Given the description of an element on the screen output the (x, y) to click on. 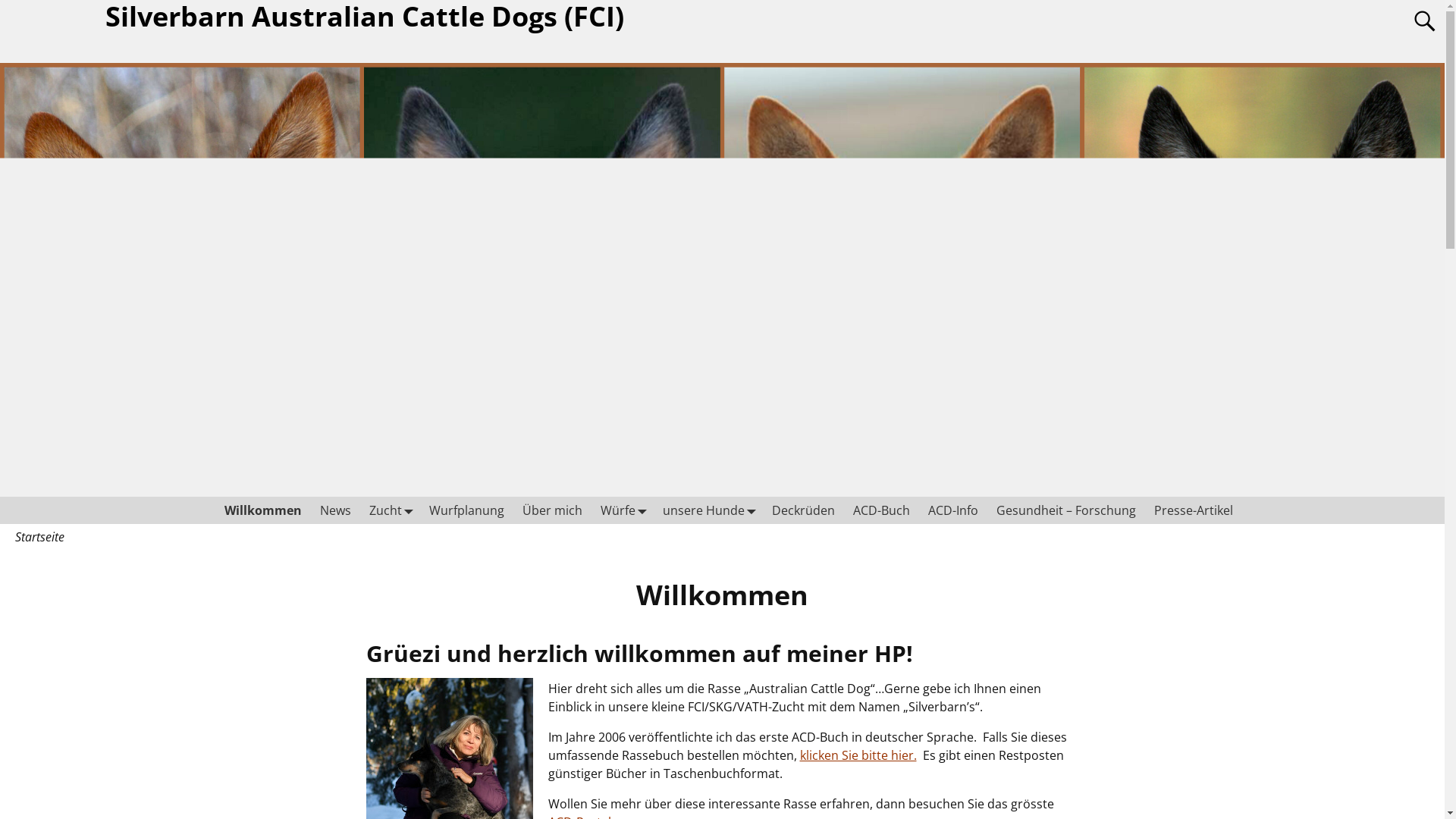
Presse-Artikel Element type: text (1193, 509)
ACD-Info Element type: text (953, 509)
Willkommen Element type: text (280, 509)
unsere Hunde Element type: text (707, 509)
Wurfplanung Element type: text (475, 509)
Zucht Element type: text (403, 509)
ACD-Buch Element type: text (880, 509)
Silverbarn Australian Cattle Dogs (FCI) Element type: text (355, 15)
klicken Sie bitte hier. Element type: text (857, 754)
News Element type: text (349, 509)
